Given the description of an element on the screen output the (x, y) to click on. 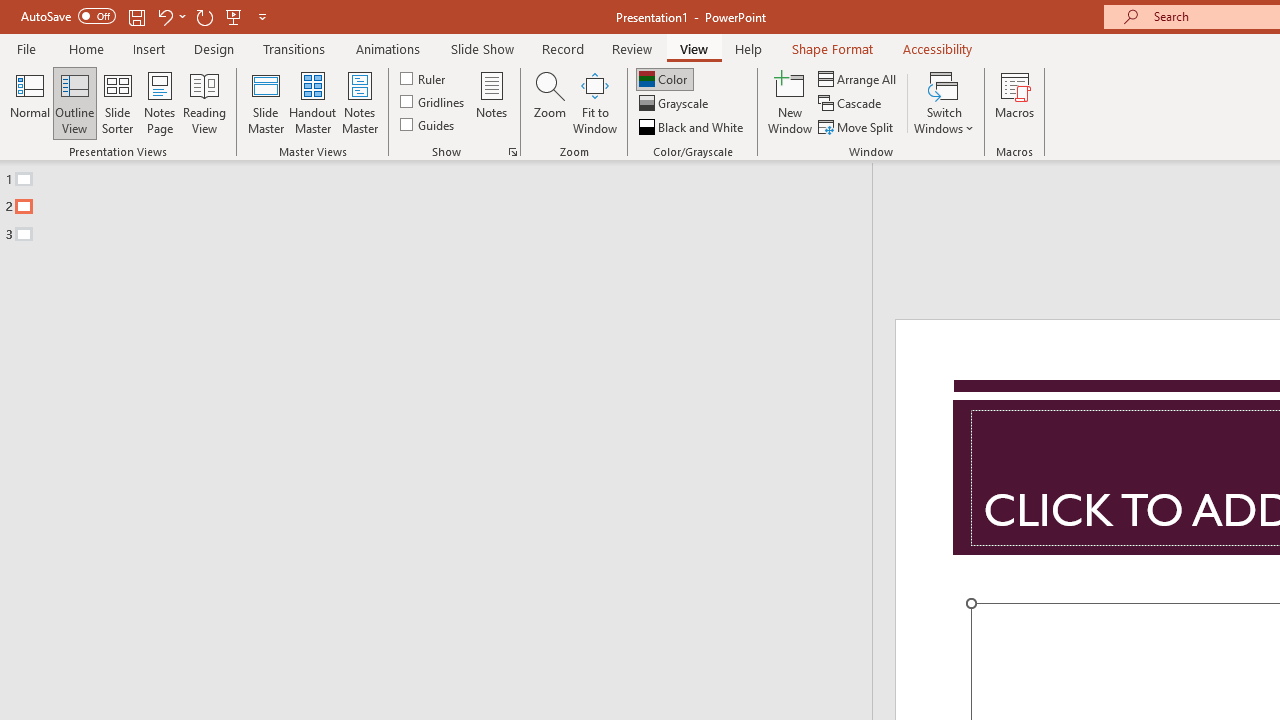
Color (664, 78)
Grid Settings... (512, 151)
Notes (492, 102)
Move Split (857, 126)
Cascade (851, 103)
Outline View (74, 102)
Ruler (423, 78)
Black and White (693, 126)
Notes Page (159, 102)
